Given the description of an element on the screen output the (x, y) to click on. 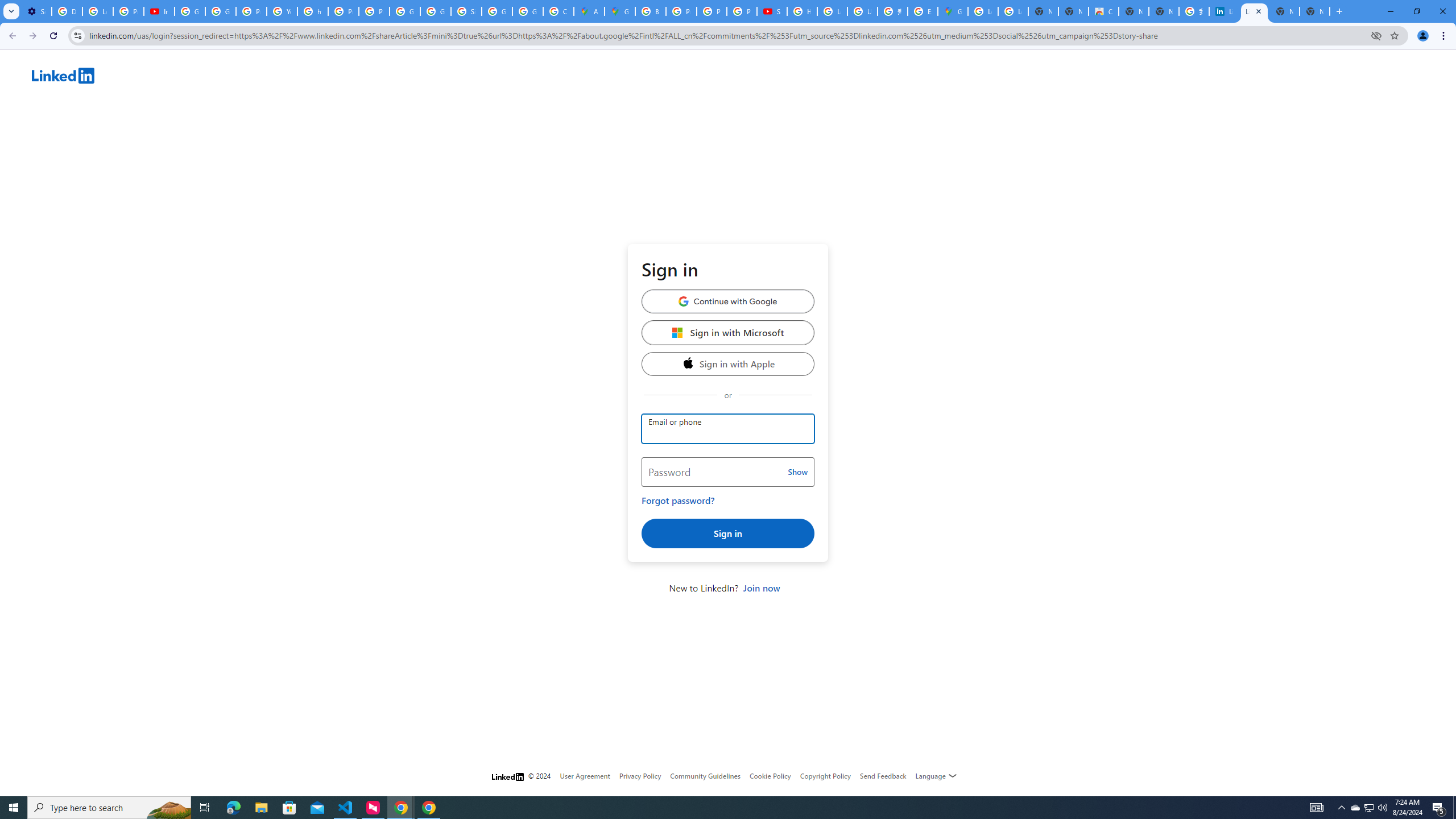
Join now (761, 588)
Google Maps (619, 11)
LinkedIn Login, Sign in | LinkedIn (1254, 11)
Microsoft (677, 332)
Subscriptions - YouTube (771, 11)
Continue with Google (727, 300)
How Chrome protects your passwords - Google Chrome Help (801, 11)
Chrome Web Store (1103, 11)
Privacy Help Center - Policies Help (681, 11)
LinkedIn Login, Sign in | LinkedIn (1224, 11)
